Given the description of an element on the screen output the (x, y) to click on. 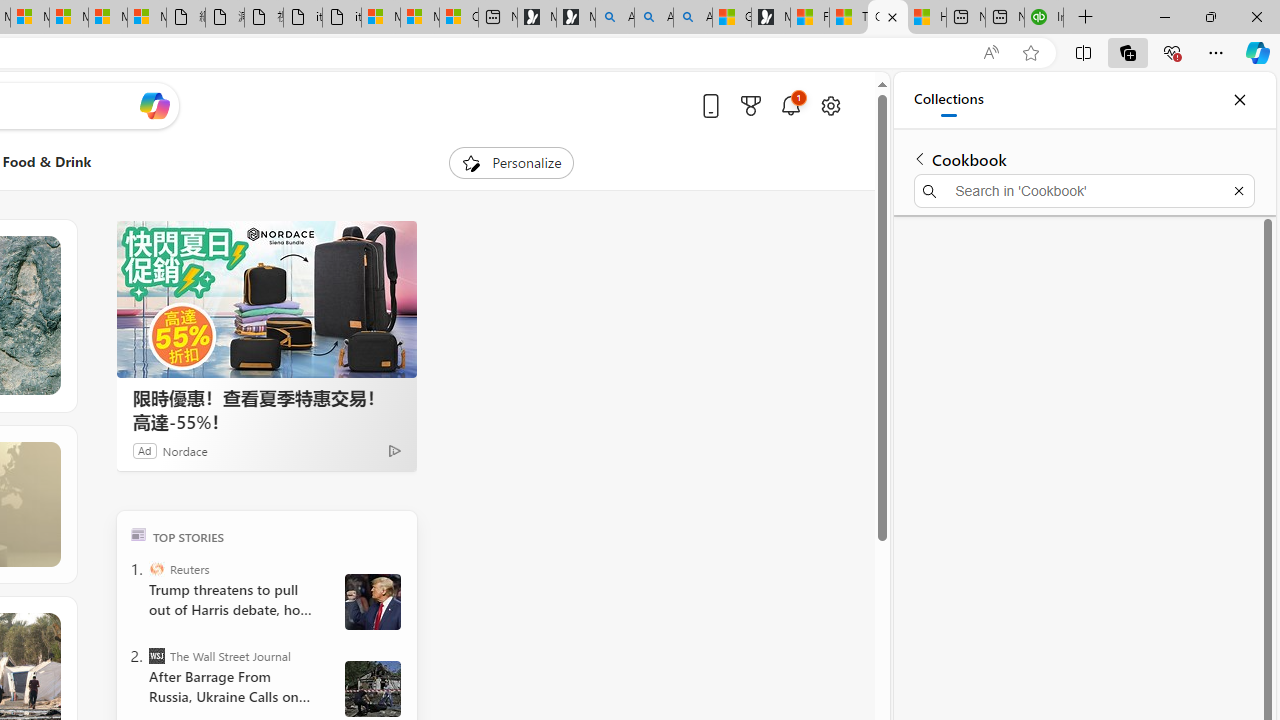
Back to list of collections (920, 158)
Exit search (1238, 190)
Microsoft Services Agreement (29, 17)
Consumer Health Data Privacy Policy (458, 17)
